Given the description of an element on the screen output the (x, y) to click on. 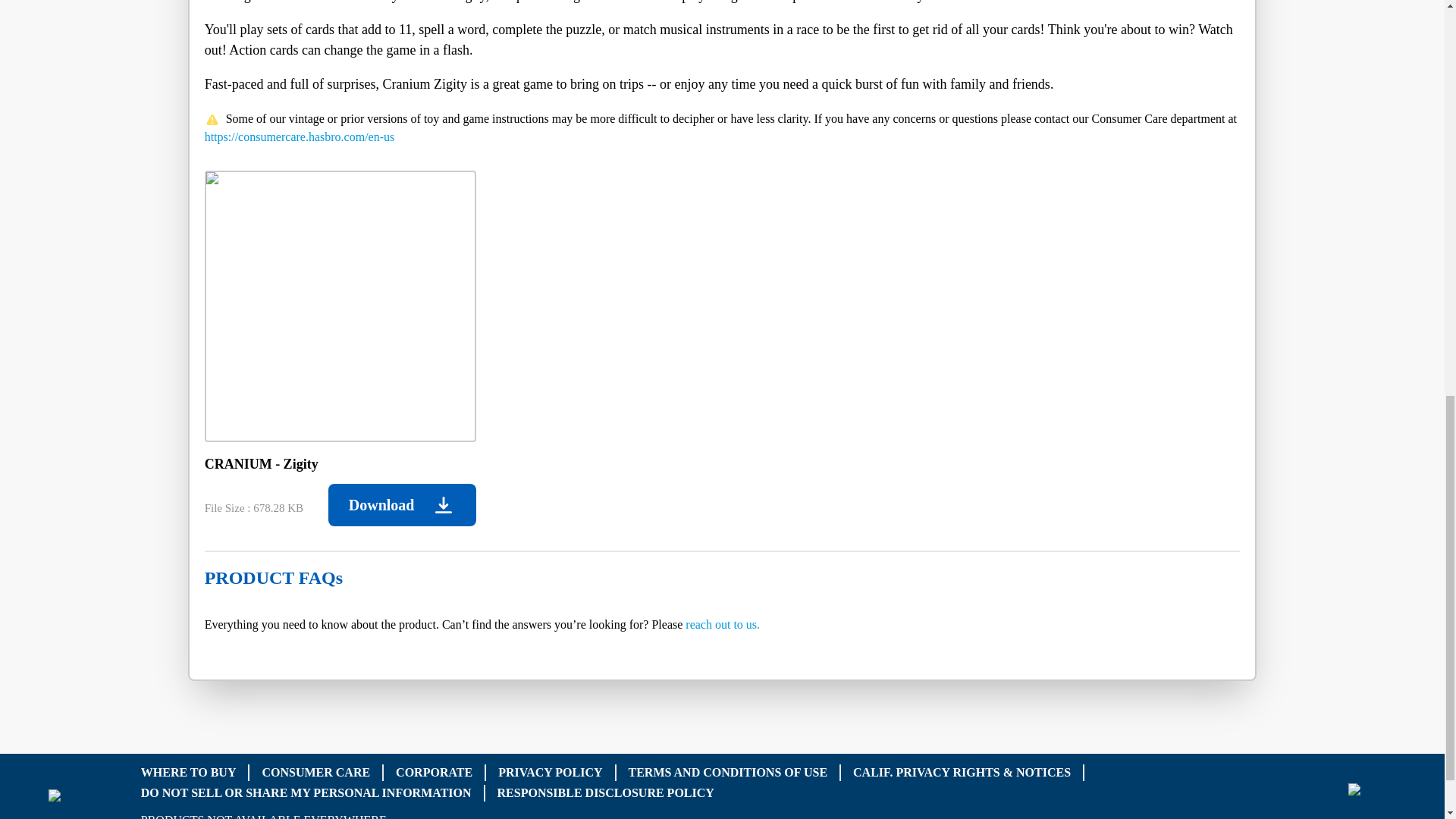
PRIVACY POLICY (549, 771)
reach out to us. (722, 624)
CORPORATE (433, 771)
WHERE TO BUY (188, 771)
RESPONSIBLE DISCLOSURE POLICY (605, 791)
Download (402, 505)
CONSUMER CARE (315, 771)
DO NOT SELL OR SHARE MY PERSONAL INFORMATION (306, 791)
TERMS AND CONDITIONS OF USE (727, 771)
